Given the description of an element on the screen output the (x, y) to click on. 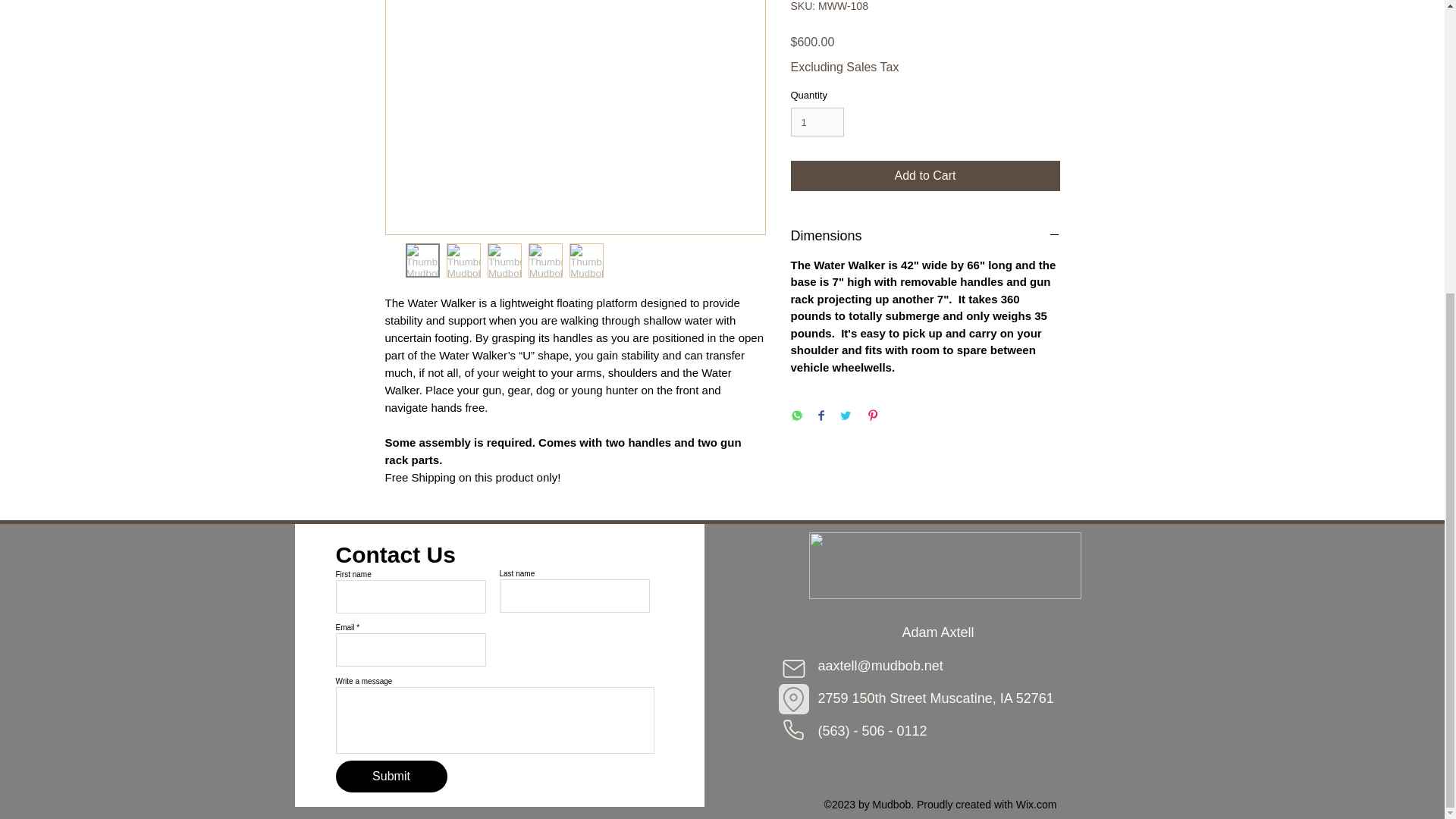
Logo-1698353162615.png (944, 565)
1 (817, 121)
Add to Cart (924, 175)
Submit (390, 776)
Dimensions (924, 235)
